Given the description of an element on the screen output the (x, y) to click on. 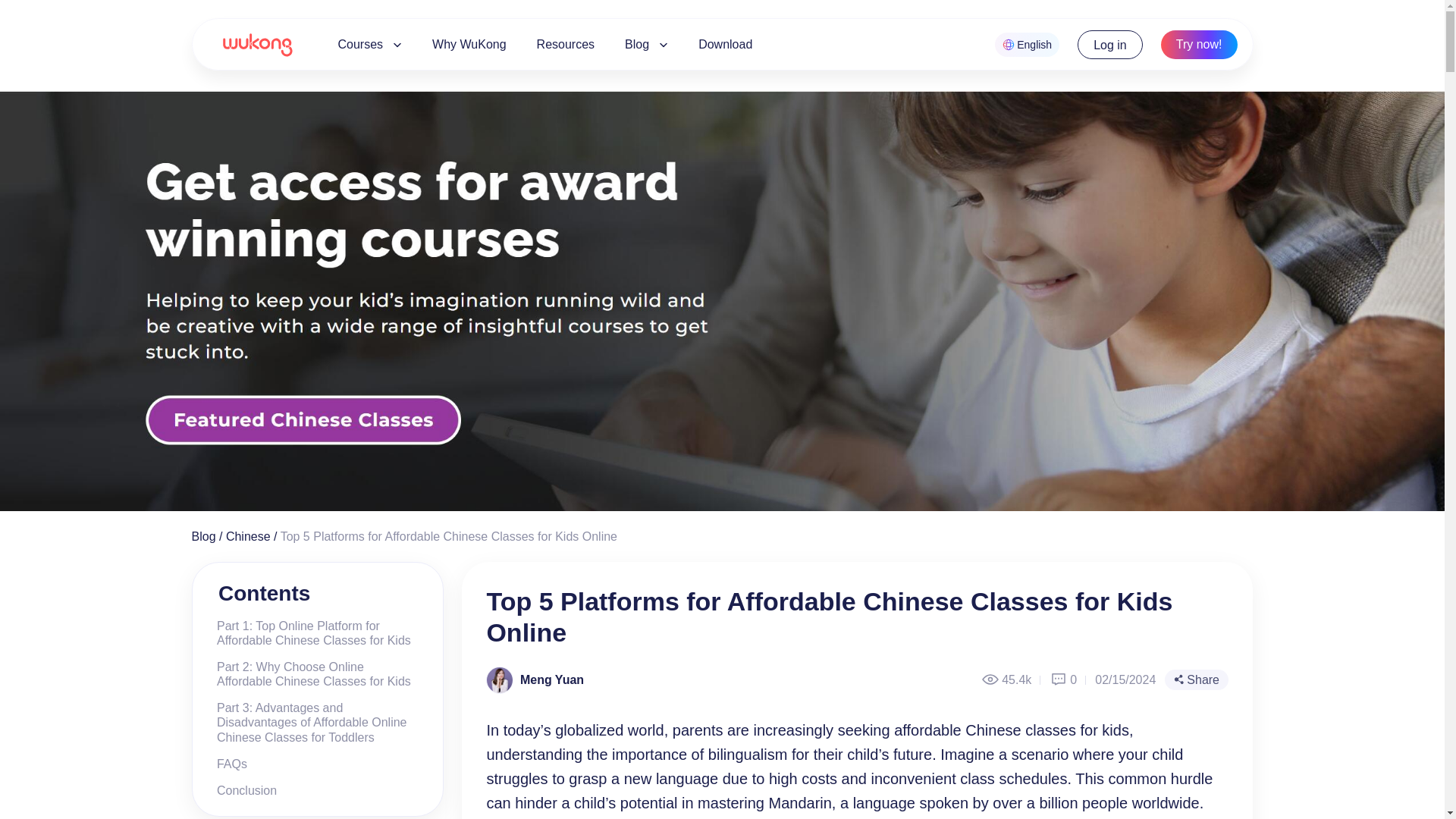
Log in (1109, 44)
Resources (565, 43)
Share (1196, 679)
Why WuKong (469, 43)
Try now! (1198, 44)
FAQs (226, 763)
Conclusion (240, 789)
Blog (202, 535)
